Given the description of an element on the screen output the (x, y) to click on. 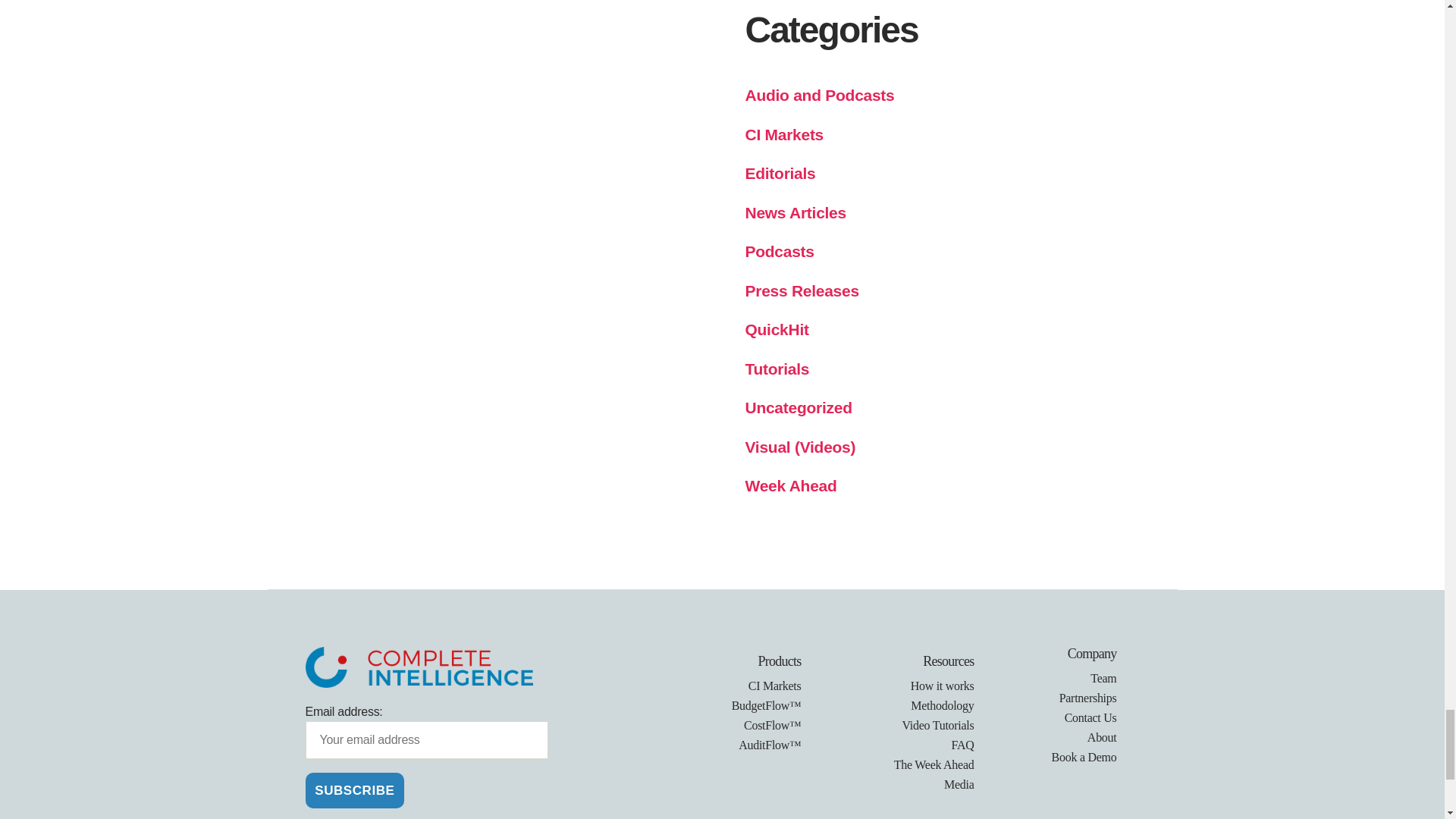
Subscribe (354, 790)
